Given the description of an element on the screen output the (x, y) to click on. 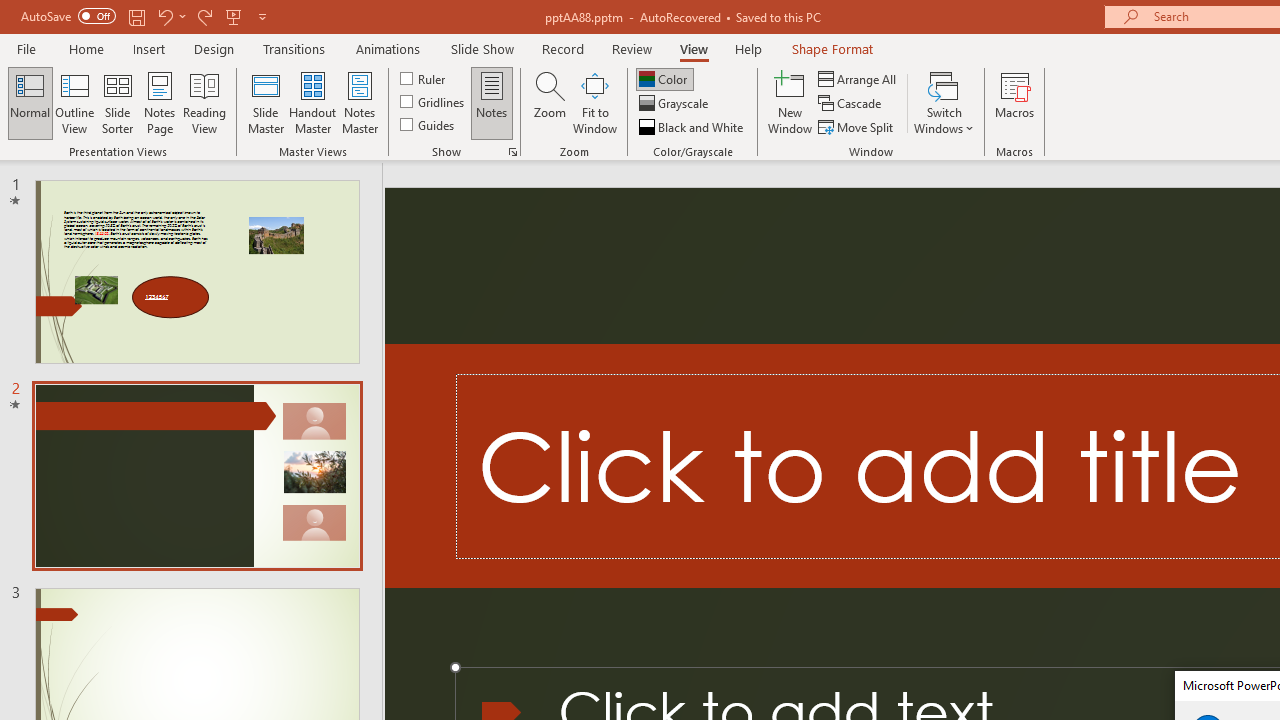
Arrange All (858, 78)
Outline View (74, 102)
Notes Master (360, 102)
Switch Windows (943, 102)
Cascade (851, 103)
Notes Page (159, 102)
